Given the description of an element on the screen output the (x, y) to click on. 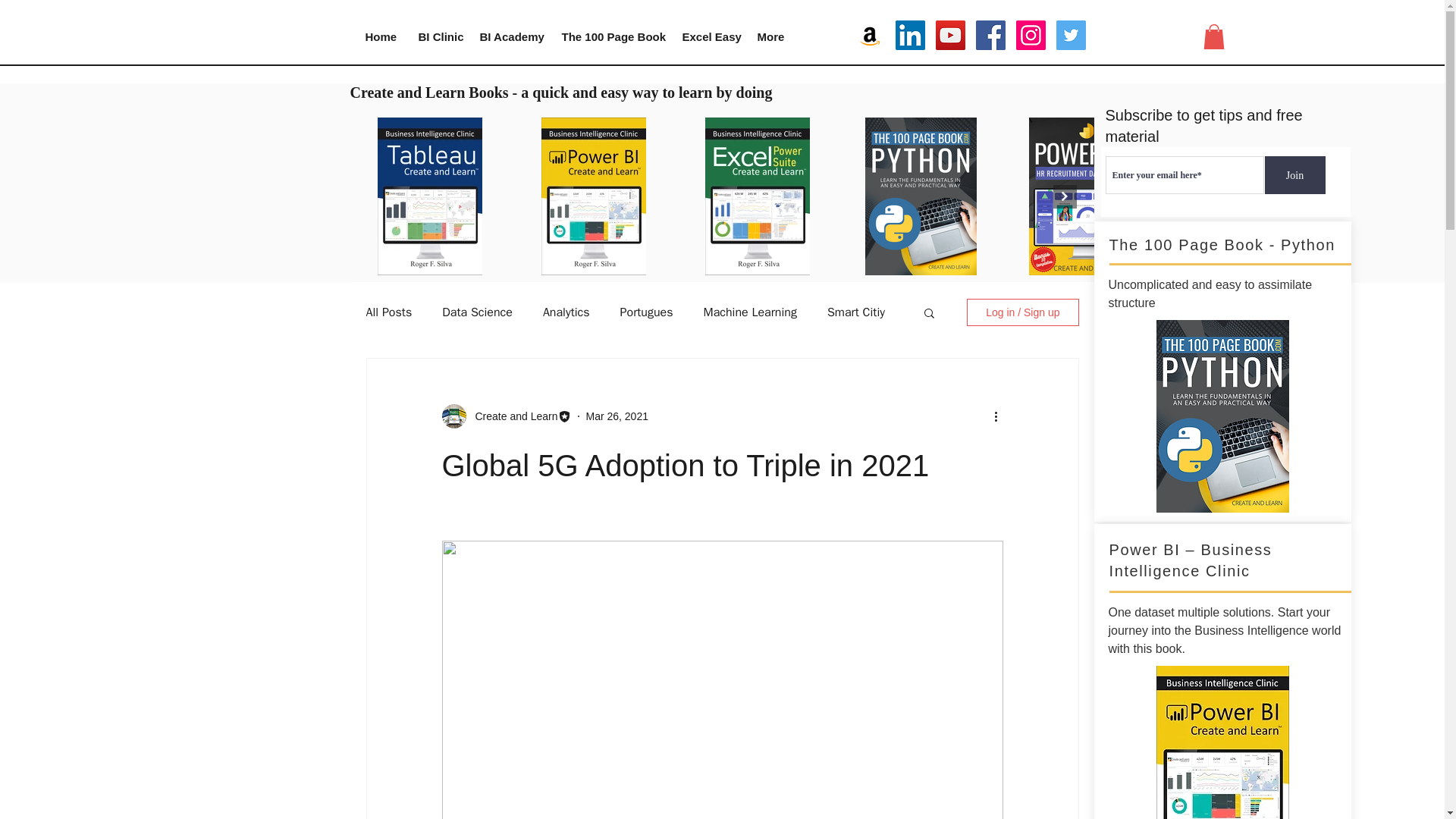
Machine Learning (749, 312)
Create and Learn (511, 416)
Excel Easy (707, 37)
All Posts (388, 312)
Mar 26, 2021 (616, 416)
Smart Citiy (856, 312)
Data Science (477, 312)
BI Clinic (436, 37)
Home (379, 37)
Analytics (566, 312)
BI Academy (509, 37)
The 100 Page Book (610, 37)
Portugues (646, 312)
